Given the description of an element on the screen output the (x, y) to click on. 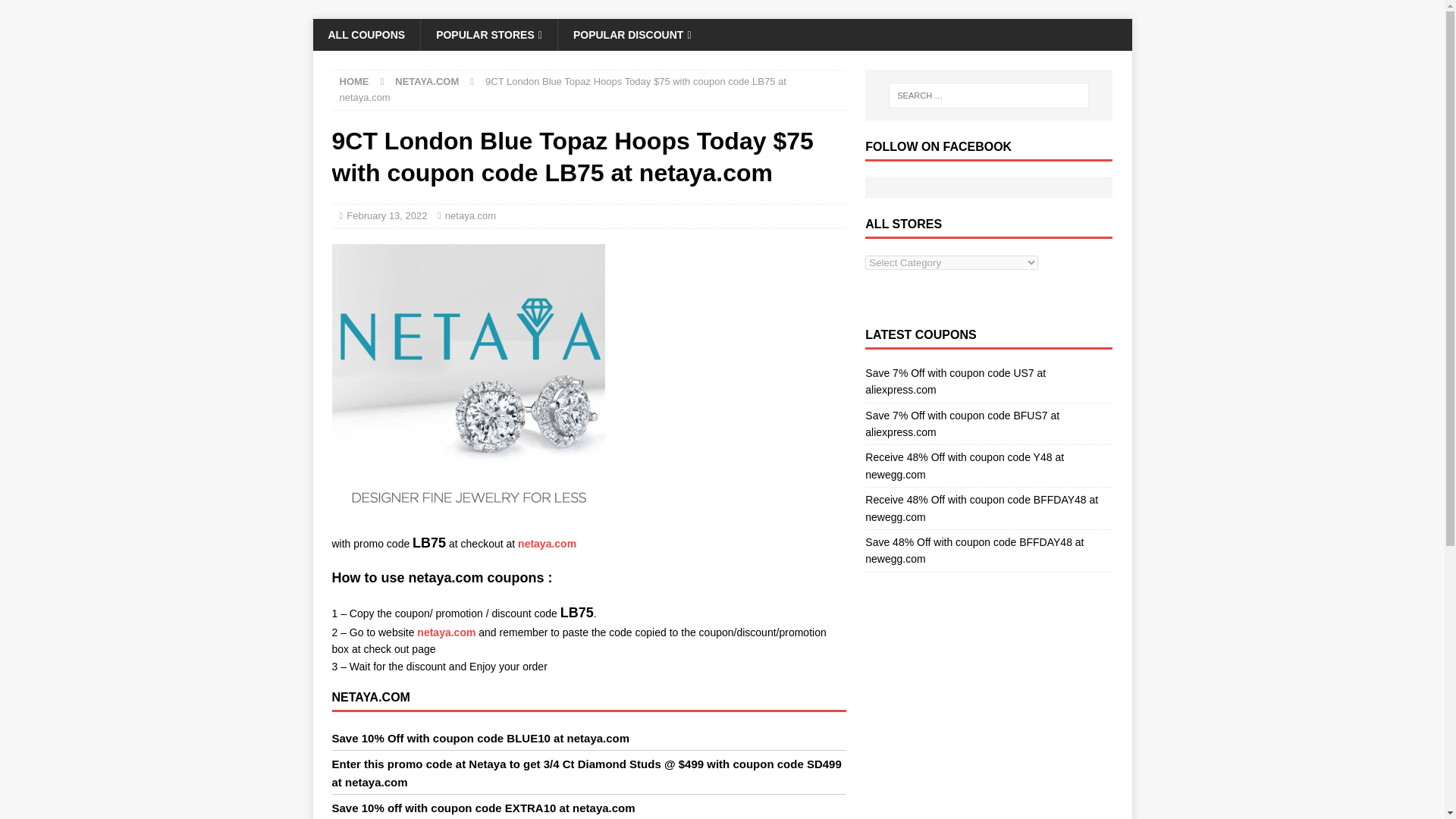
HOME (354, 81)
POPULAR STORES (488, 34)
NETAYA.COM (426, 81)
netaya.com (470, 215)
POPULAR DISCOUNT (631, 34)
ALL COUPONS (366, 34)
February 13, 2022 (386, 215)
